Given the description of an element on the screen output the (x, y) to click on. 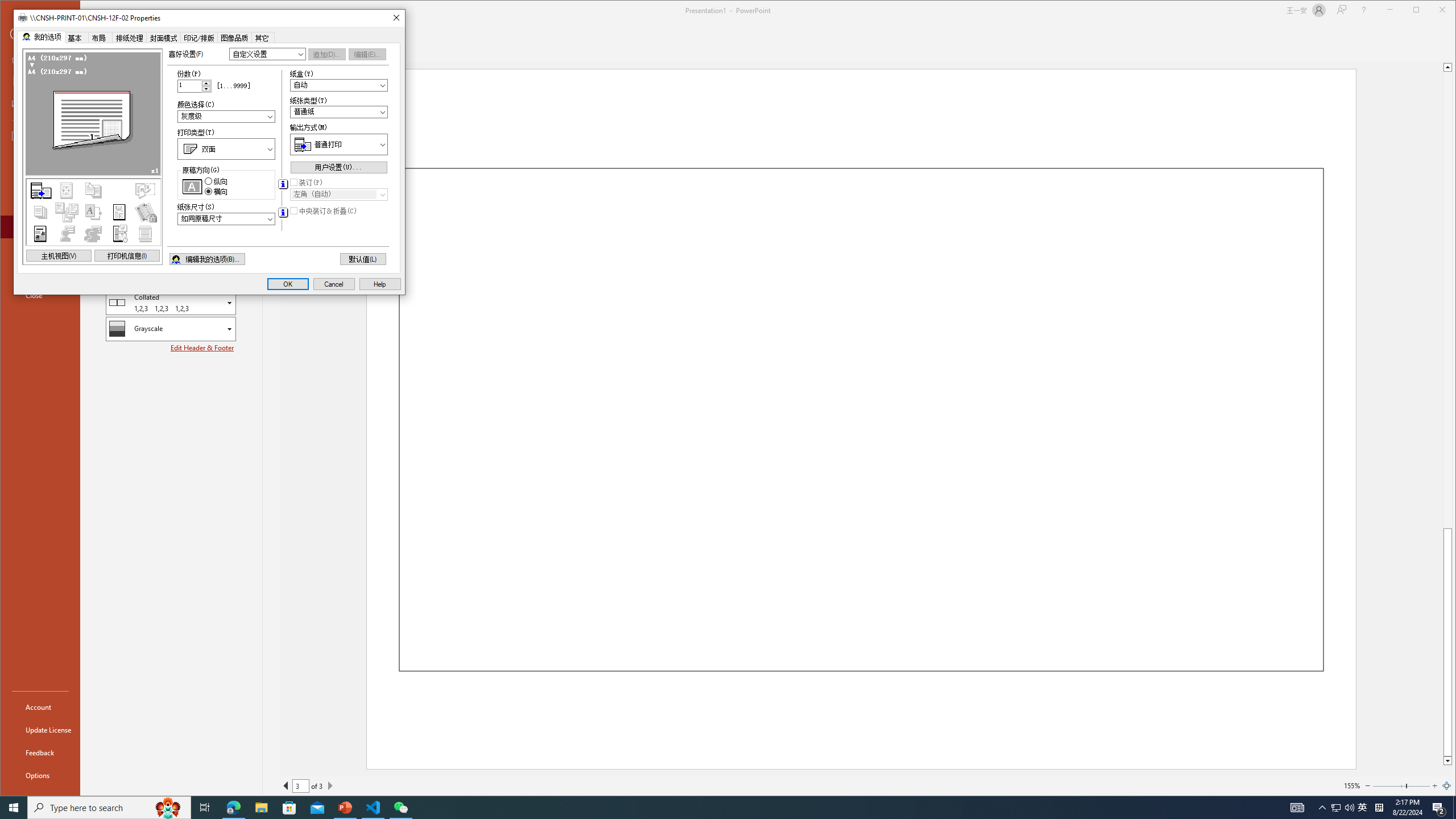
Notification Chevron (1322, 807)
155% (1351, 785)
File Explorer (1335, 807)
Start (261, 807)
Less (13, 807)
Cancel (205, 88)
Options (334, 283)
